Given the description of an element on the screen output the (x, y) to click on. 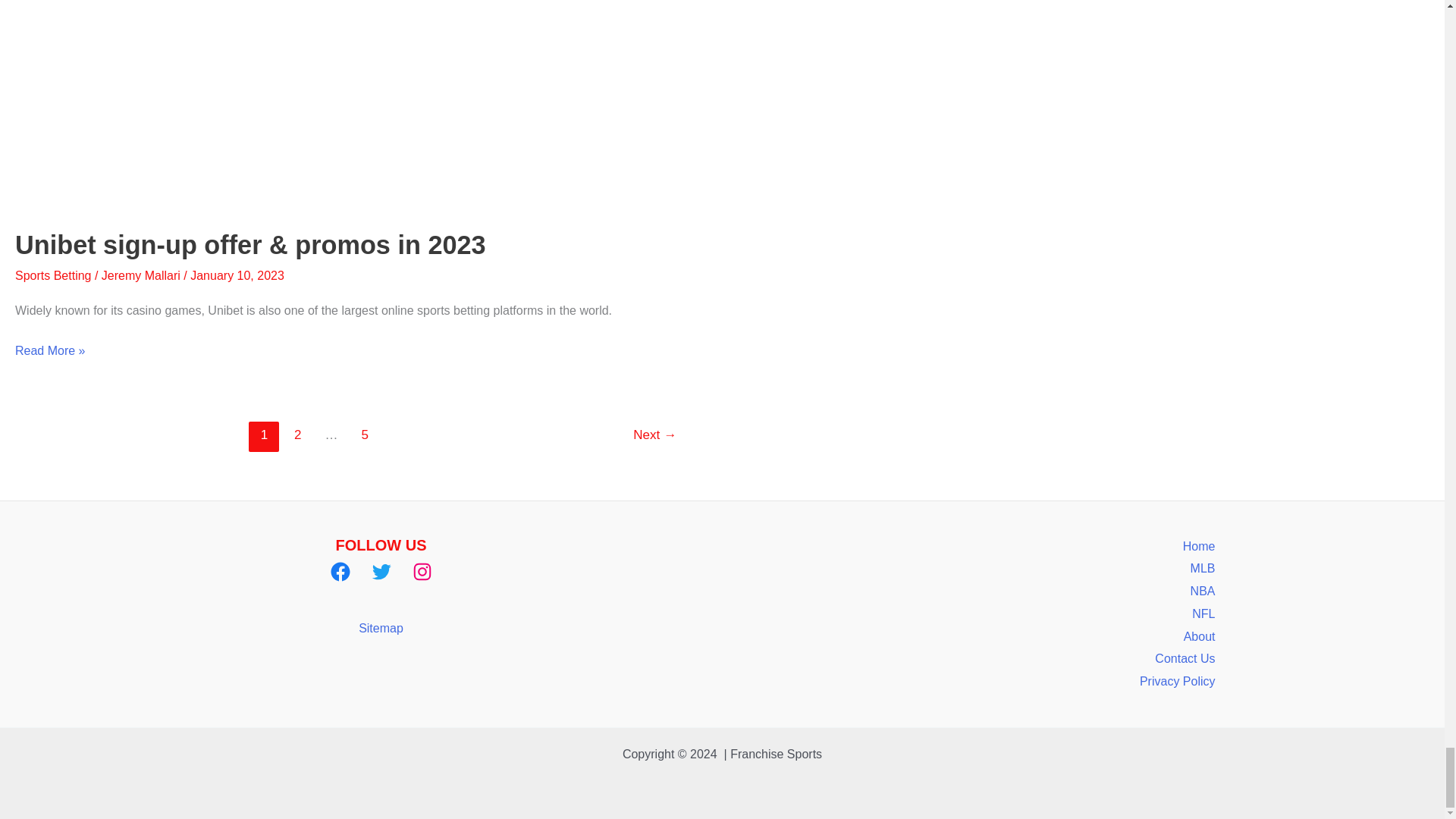
View all posts by Jeremy Mallari (142, 275)
